Given the description of an element on the screen output the (x, y) to click on. 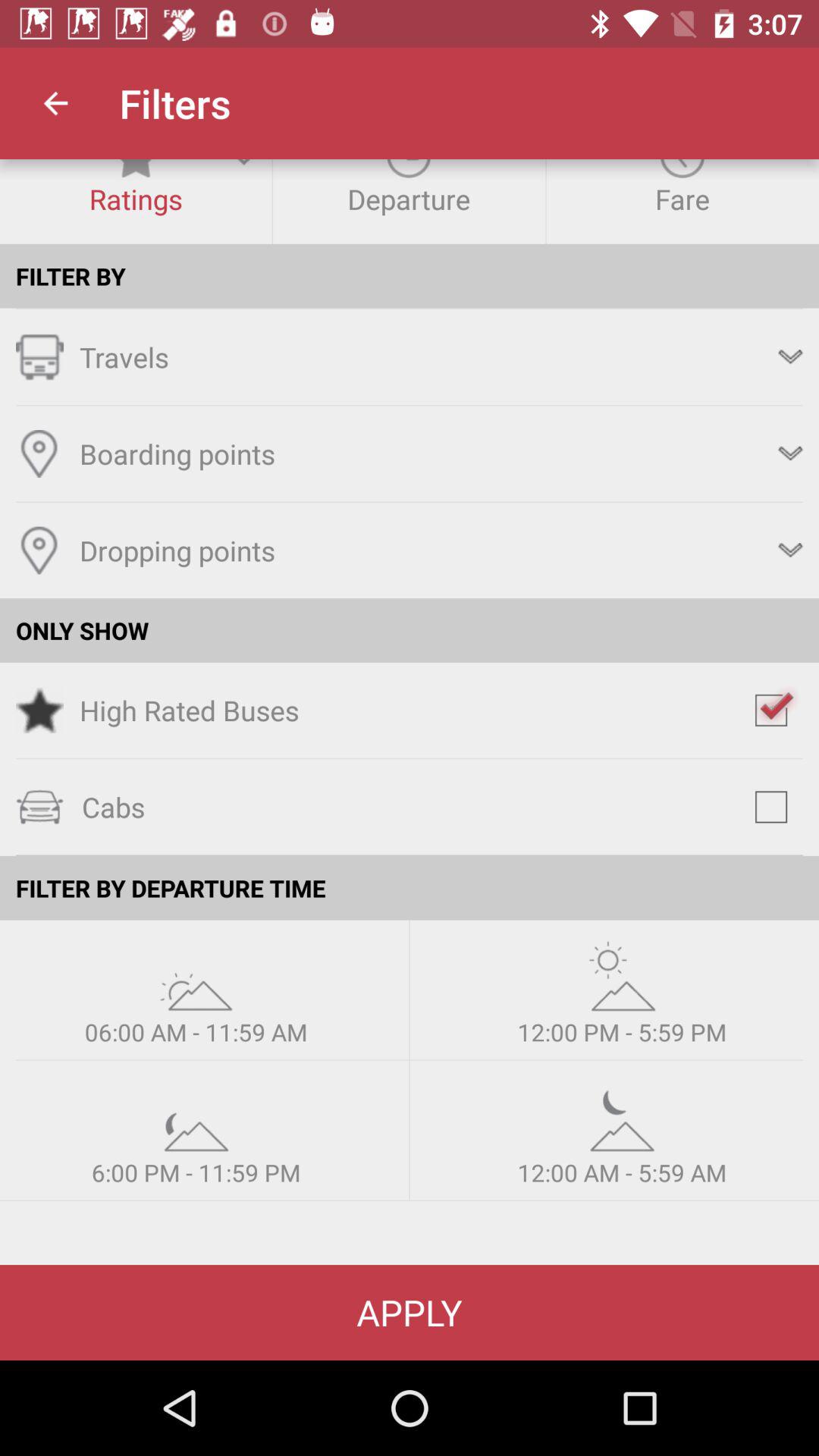
filter by departure time option (622, 1116)
